Given the description of an element on the screen output the (x, y) to click on. 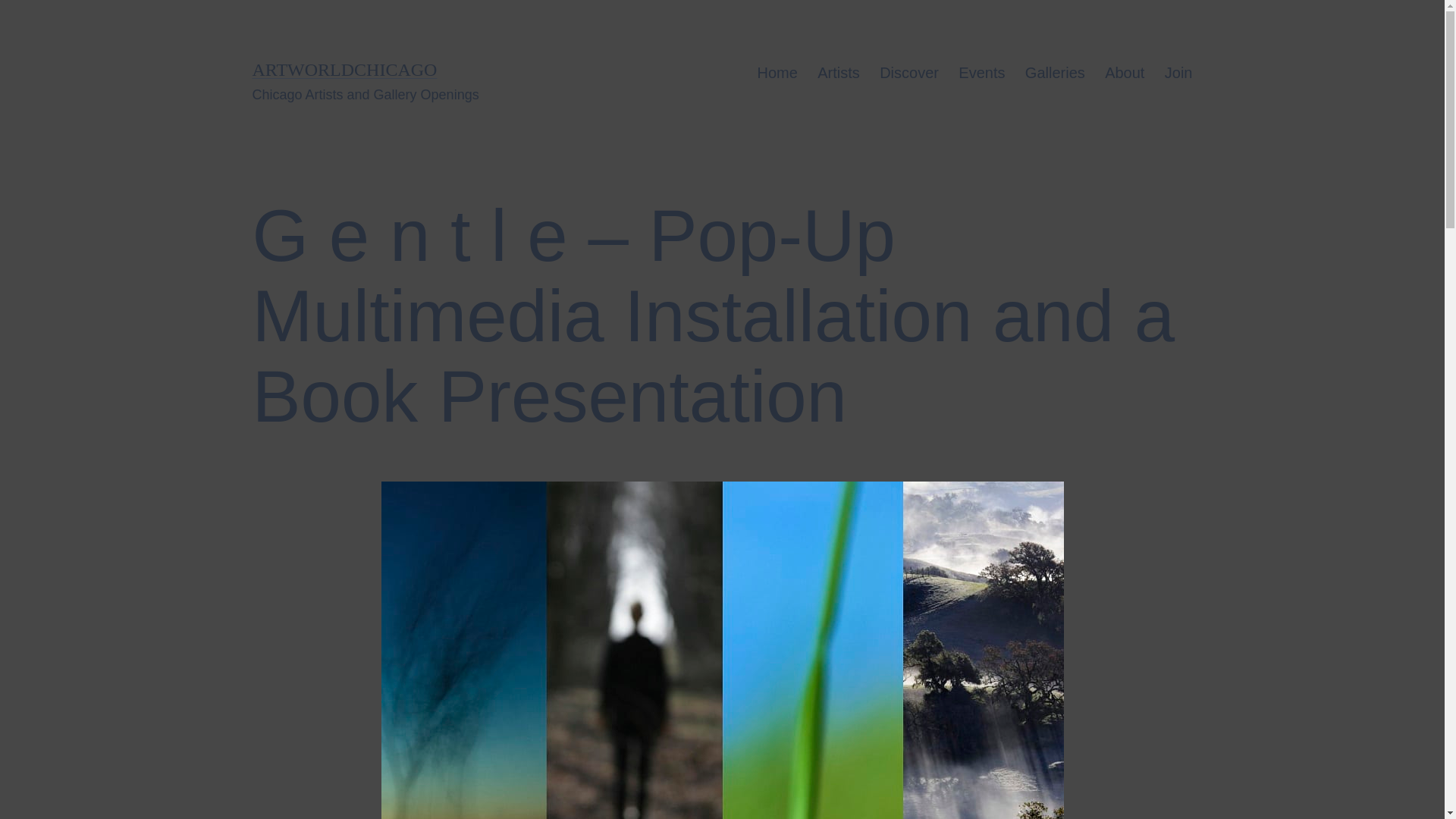
Home (777, 72)
Discover (909, 72)
Events (981, 72)
About (1124, 72)
Galleries (1054, 72)
Artists (838, 72)
Join (1178, 72)
ARTWORLDCHICAGO (343, 69)
